Given the description of an element on the screen output the (x, y) to click on. 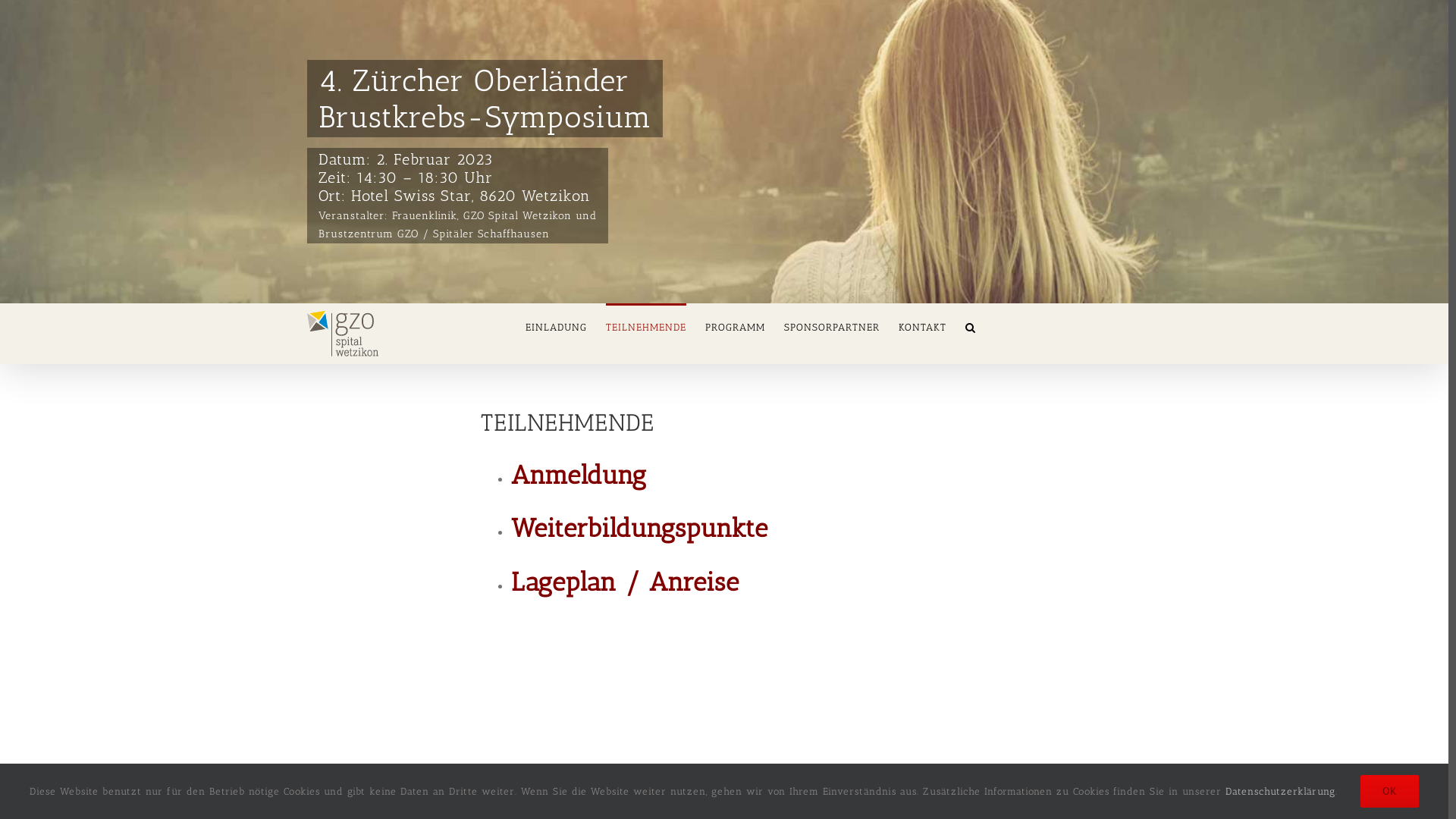
Anmeldung Element type: text (578, 474)
Weiterbildungspunkte Element type: text (639, 527)
TEILNEHMENDE Element type: text (645, 325)
SPONSORPARTNER Element type: text (831, 325)
KONTAKT Element type: text (922, 325)
Datenschutz Element type: text (786, 799)
EINLADUNG Element type: text (555, 325)
PROGRAMM Element type: text (735, 325)
Lageplan / Anreise Element type: text (625, 581)
OK Element type: text (1389, 791)
Suche Element type: hover (970, 325)
